Given the description of an element on the screen output the (x, y) to click on. 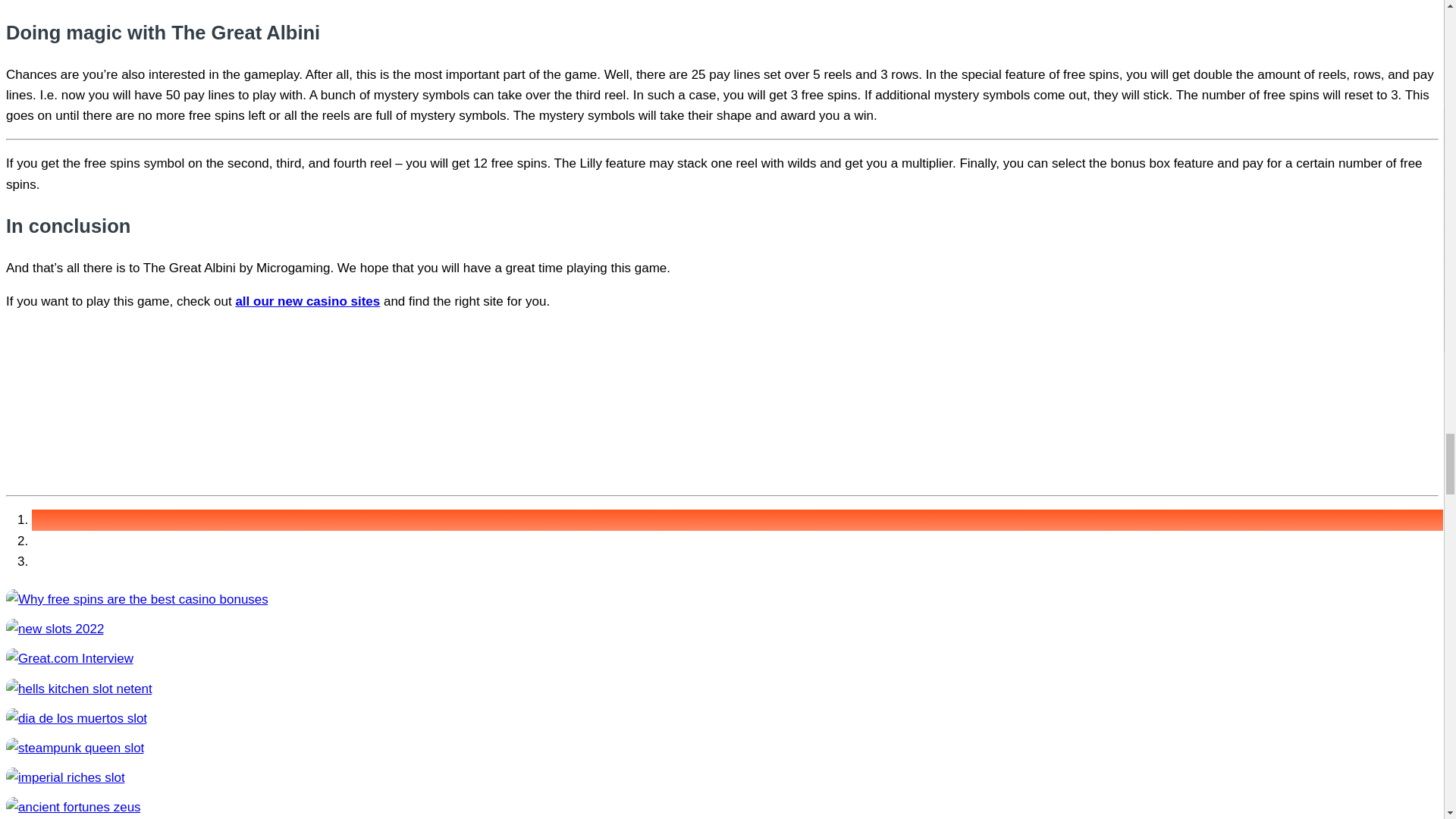
all our new casino sites (307, 301)
